Given the description of an element on the screen output the (x, y) to click on. 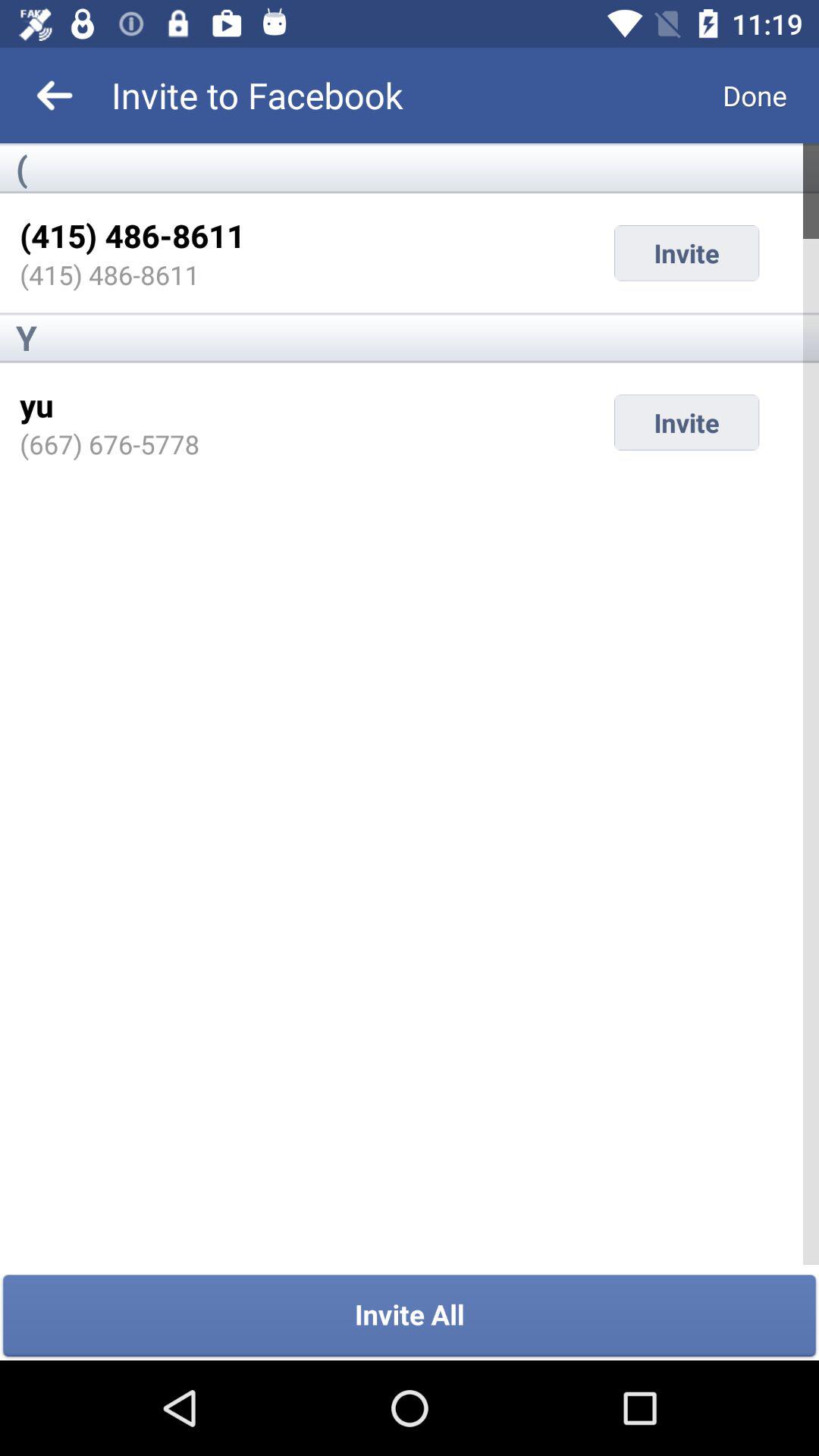
turn off item above invite all icon (109, 443)
